Given the description of an element on the screen output the (x, y) to click on. 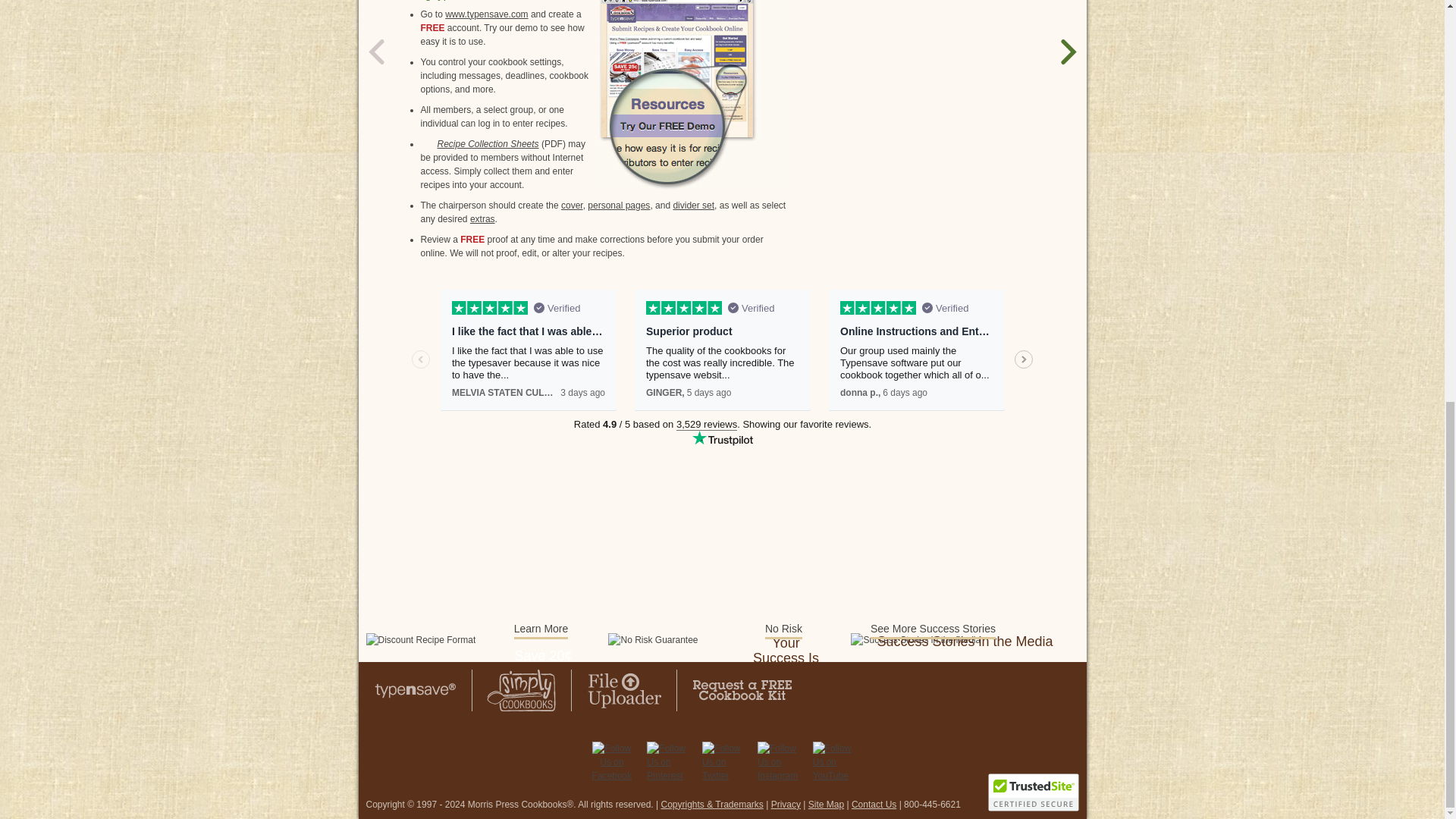
Divider Styles (693, 204)
Customer reviews powered by Trustpilot (721, 372)
Personal Pages (618, 204)
Recipe Collection Sheets PDF (479, 143)
Cookbook Extras (482, 218)
Cover Styles (571, 204)
